Given the description of an element on the screen output the (x, y) to click on. 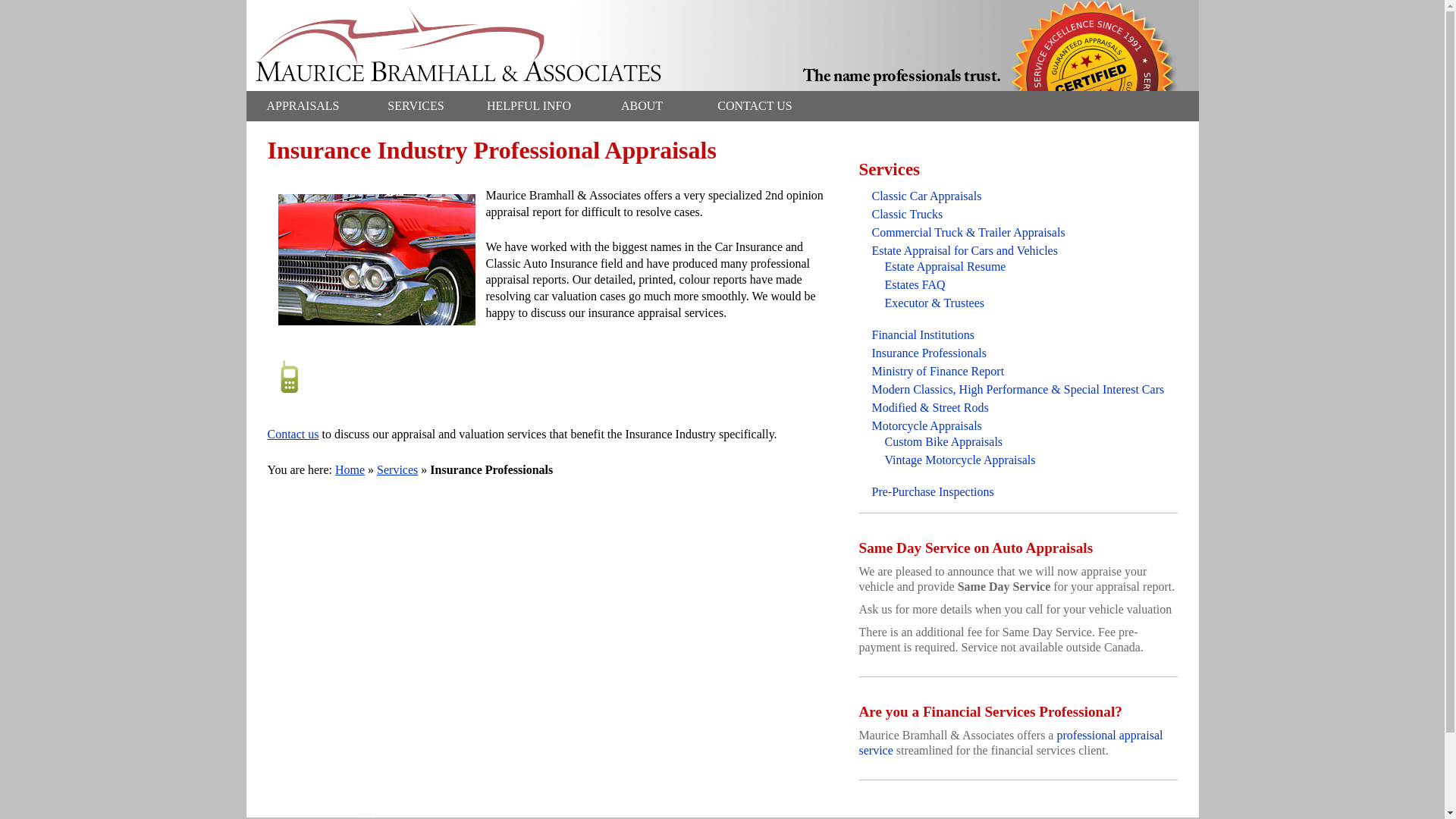
financial (1010, 742)
classic-car-services (376, 259)
Services (397, 469)
Insurance Professionals (929, 352)
HELPFUL INFO (528, 105)
Ministry of Finance Report (938, 370)
Classic Trucks (907, 214)
professional appraisal service (1010, 742)
ABOUT (641, 105)
APPRAISALS (302, 105)
Call for Classic Car Appraisal (288, 376)
Services (889, 168)
Financial Institutions (923, 334)
Estate Appraisal Resume (944, 266)
Motorcycle Appraisals (926, 425)
